Given the description of an element on the screen output the (x, y) to click on. 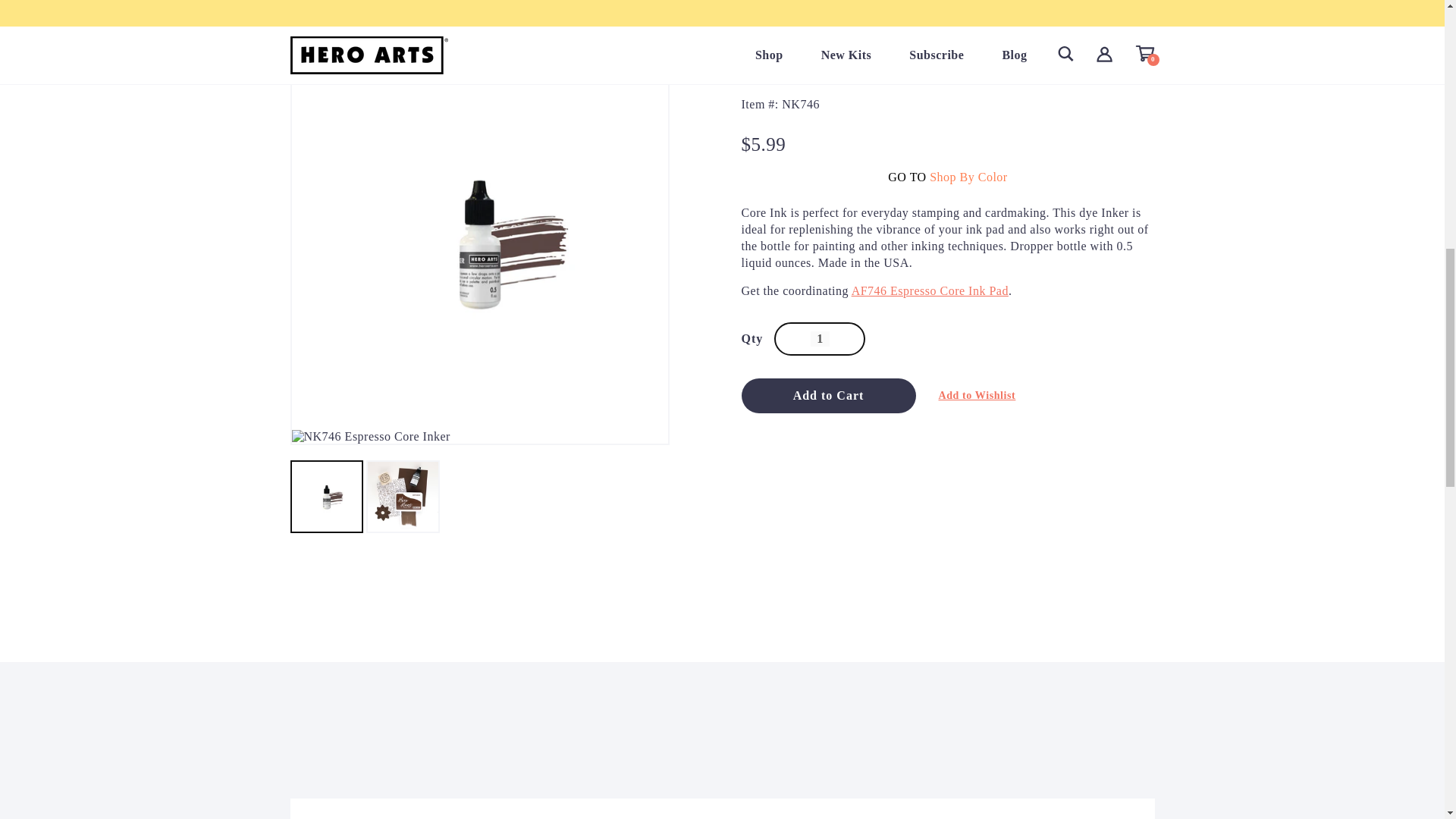
1 (819, 337)
